Given the description of an element on the screen output the (x, y) to click on. 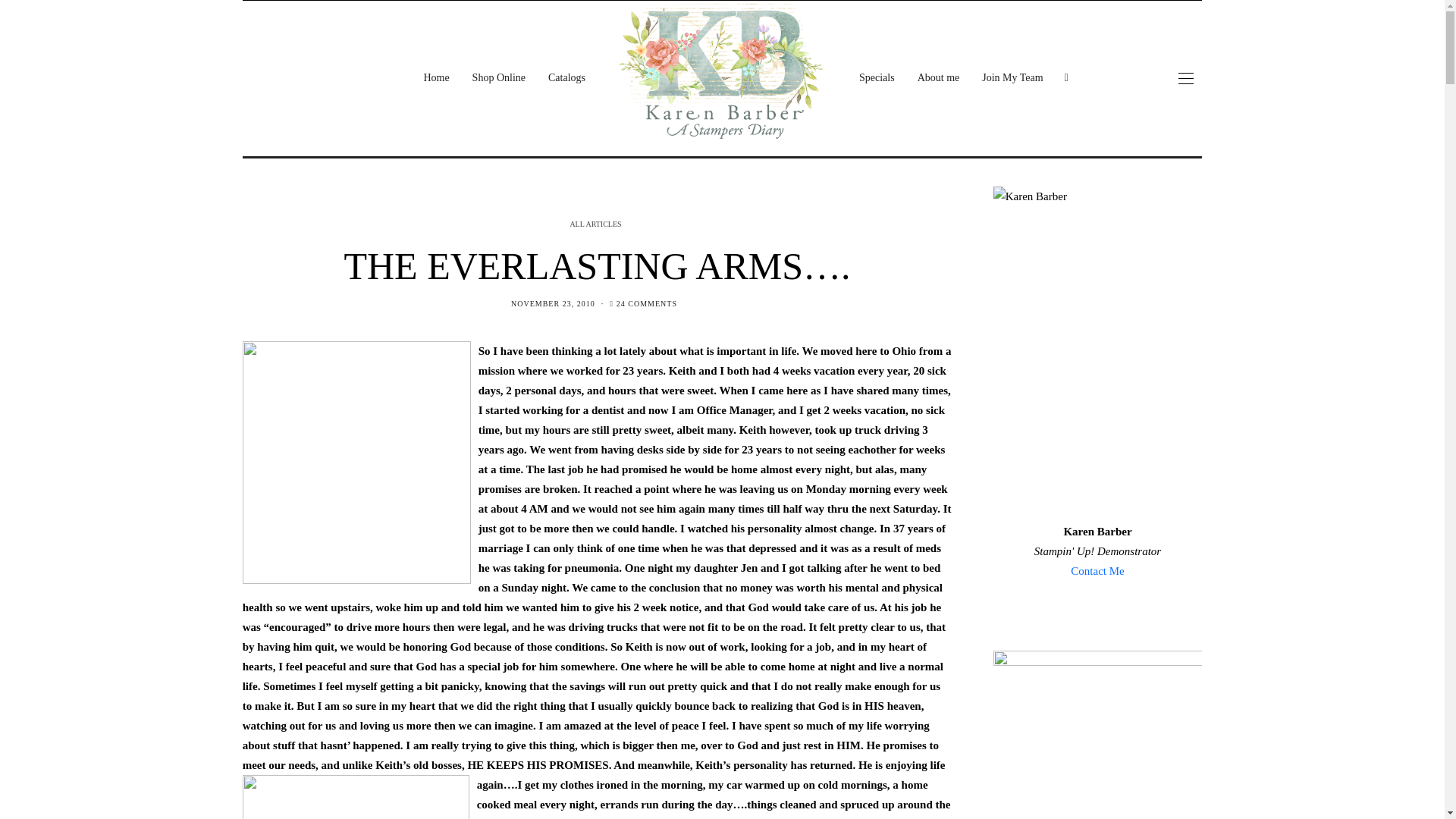
About me (938, 77)
24 COMMENTS (646, 303)
A Stampers Diary (721, 70)
Home (436, 77)
NOVEMBER 23, 2010 (553, 303)
Shop Online (499, 77)
ALL ARTICLES (596, 223)
Join My Team (1012, 77)
Specials (876, 77)
Catalogs (566, 77)
